Given the description of an element on the screen output the (x, y) to click on. 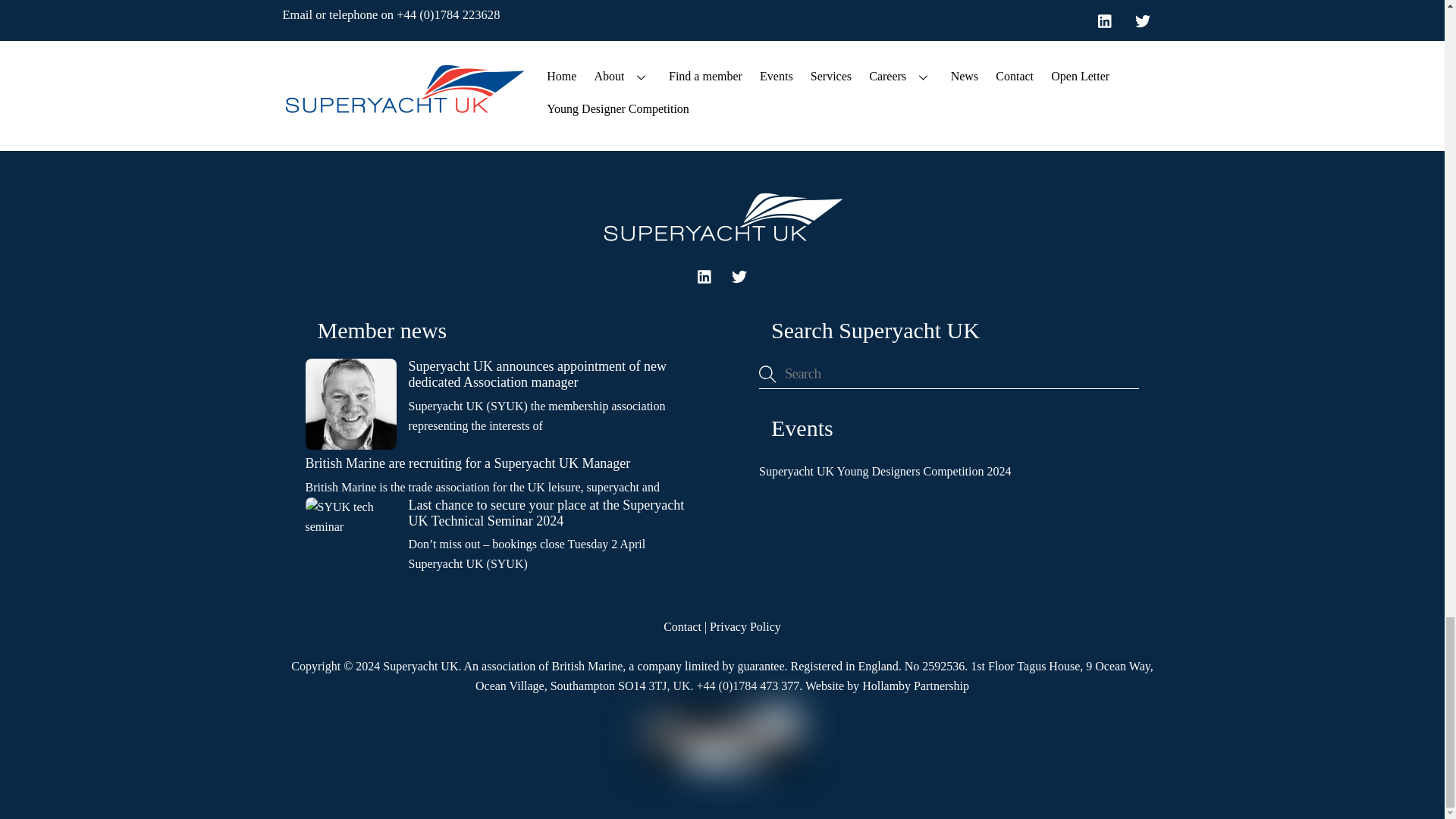
Superyacht UK (721, 240)
Search (948, 373)
SYUK tech seminar (350, 542)
